Given the description of an element on the screen output the (x, y) to click on. 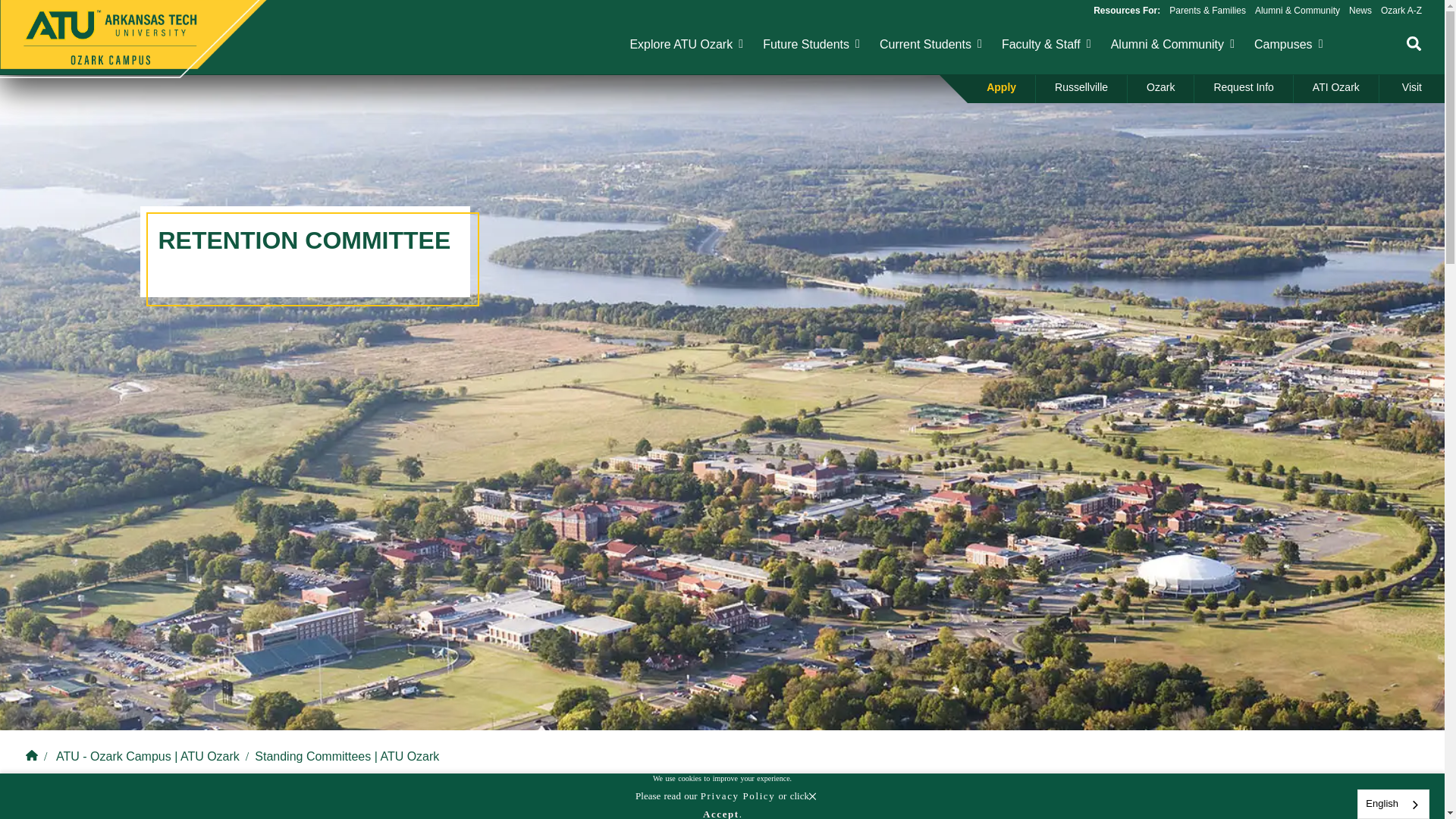
News (1360, 9)
Future Students (805, 43)
Privacy Policy (738, 796)
Explore ATU Ozark (680, 43)
Ozark A-Z (1401, 9)
Accept (721, 812)
Current Students (925, 43)
